Given the description of an element on the screen output the (x, y) to click on. 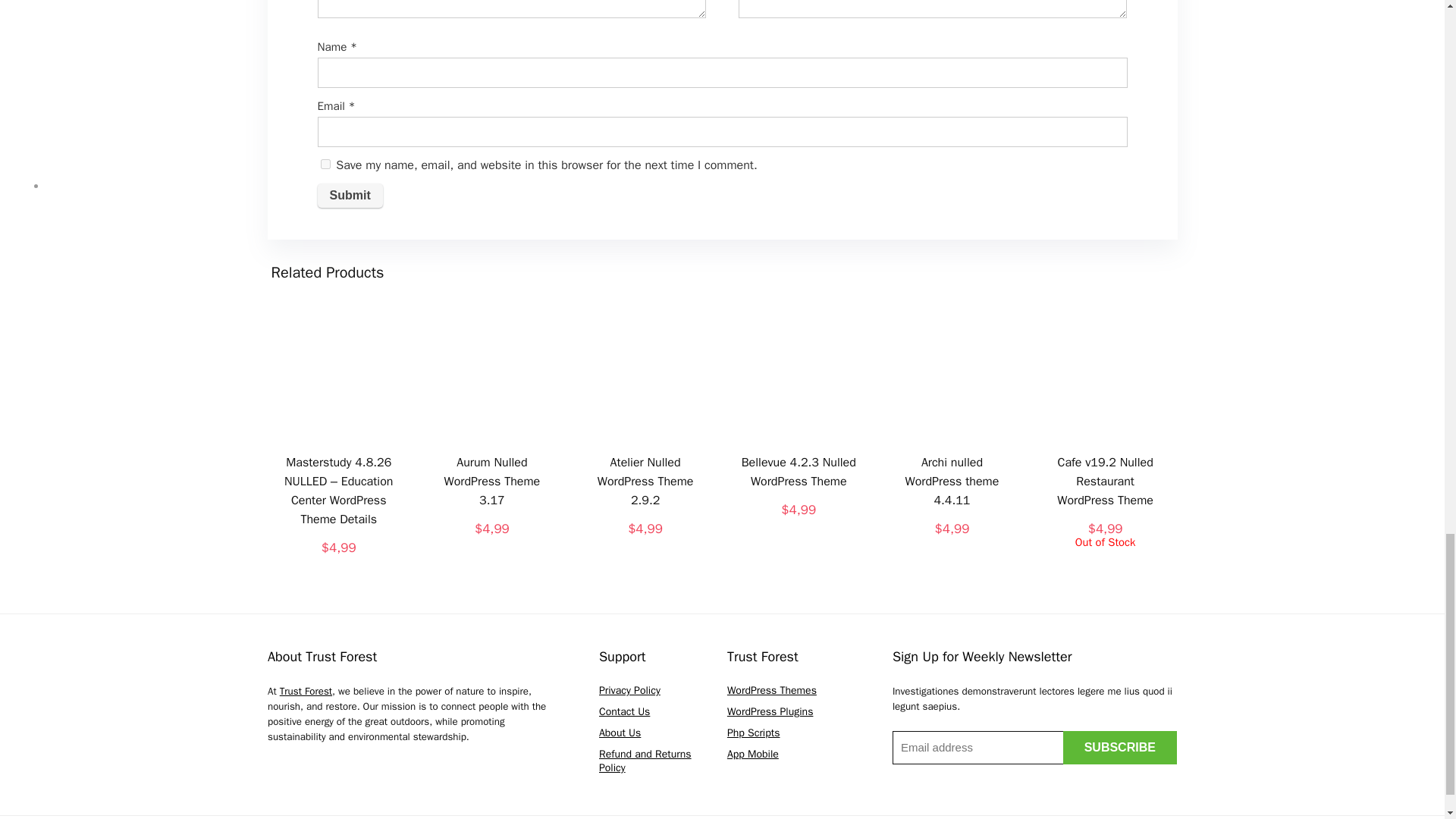
Subscribe (1119, 747)
Submit (349, 195)
yes (325, 163)
Submit (349, 195)
